Given the description of an element on the screen output the (x, y) to click on. 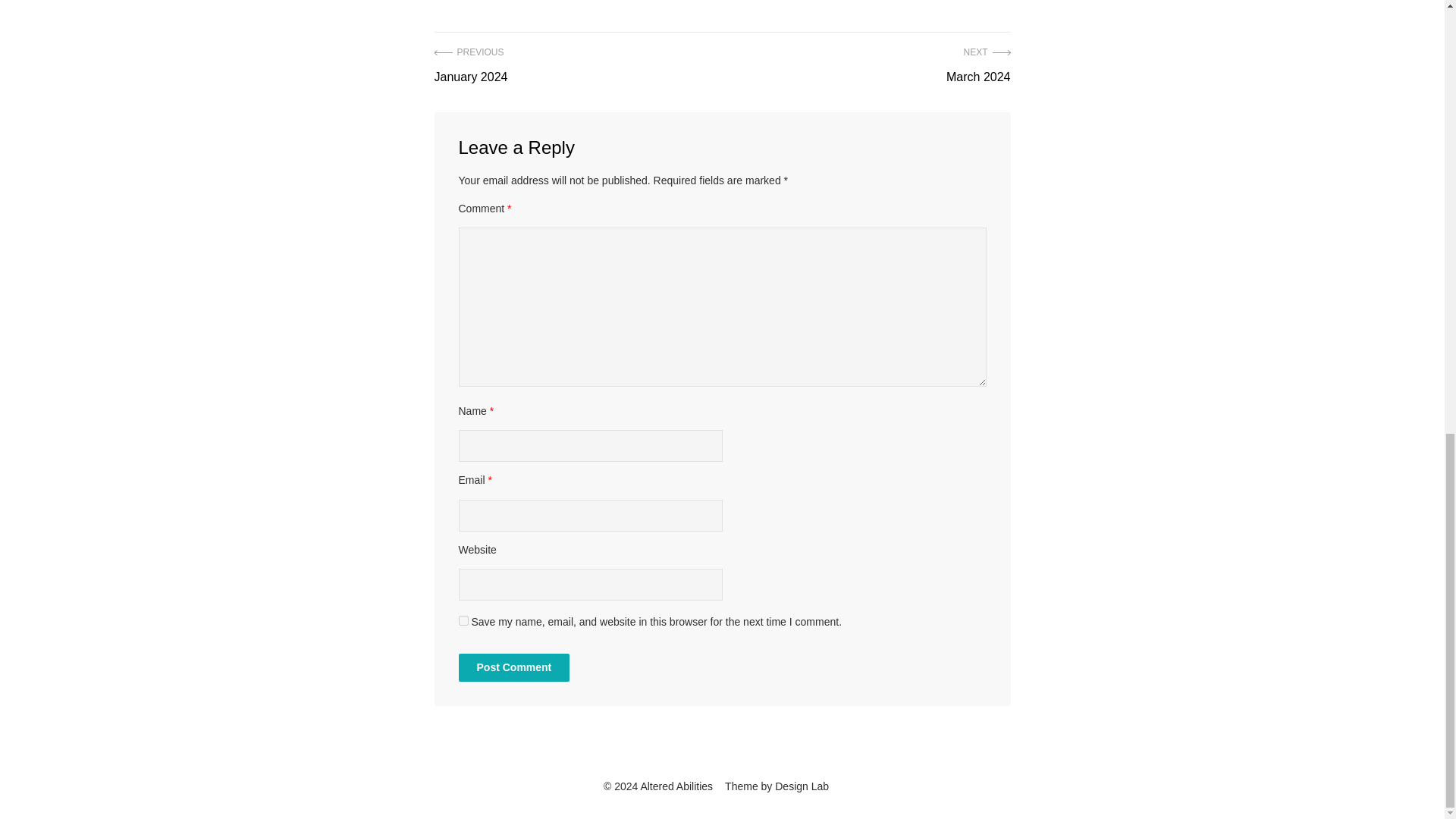
Post Comment (513, 667)
Design Lab (469, 66)
Post Comment (978, 66)
yes (801, 786)
